Given the description of an element on the screen output the (x, y) to click on. 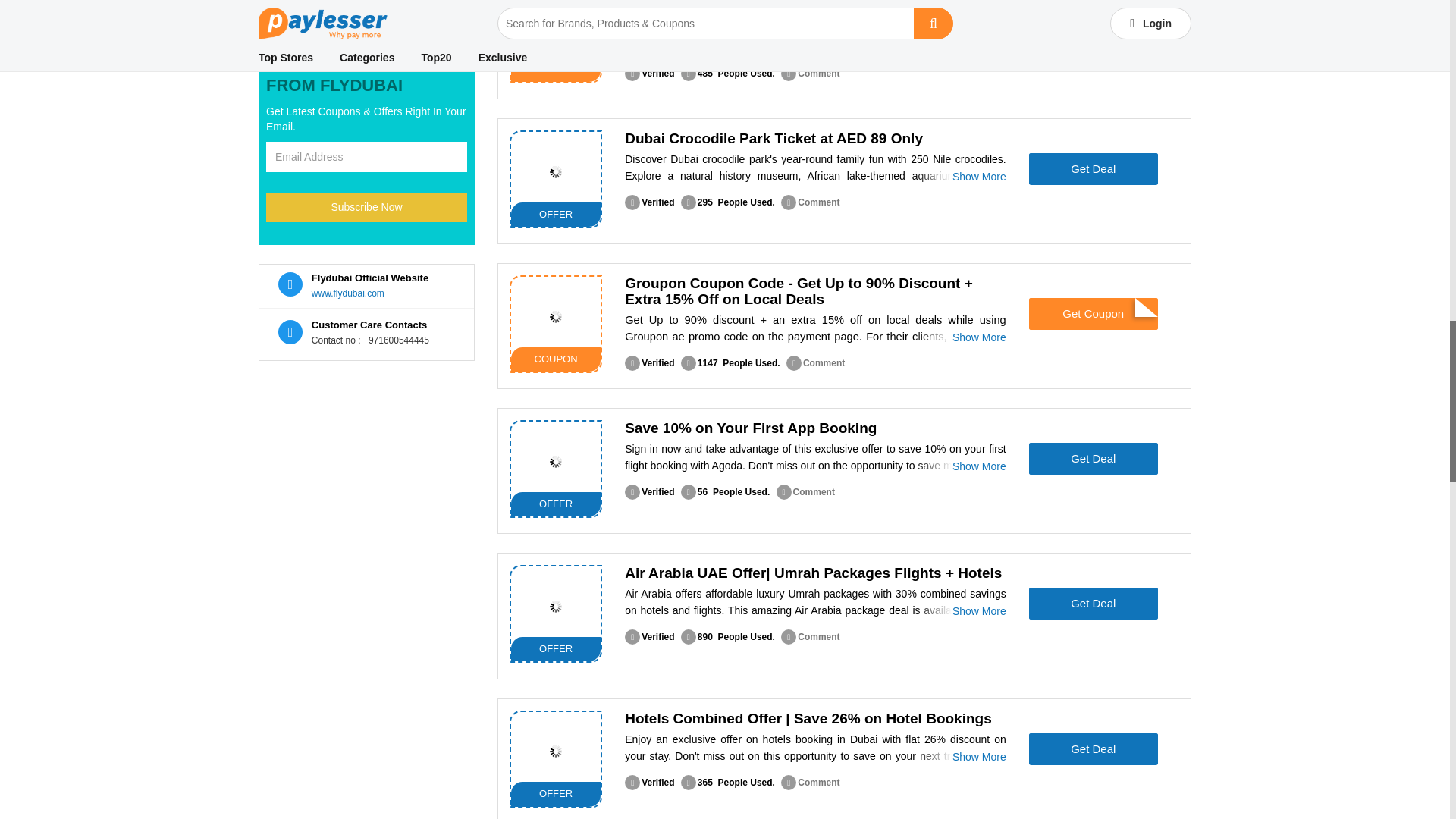
Groupon offers (555, 316)
Air Arabia offers (555, 605)
Agoda offers (555, 461)
Qatar Airways offers (555, 26)
Hotels Combined offers (555, 751)
Cobone offers (555, 171)
